Given the description of an element on the screen output the (x, y) to click on. 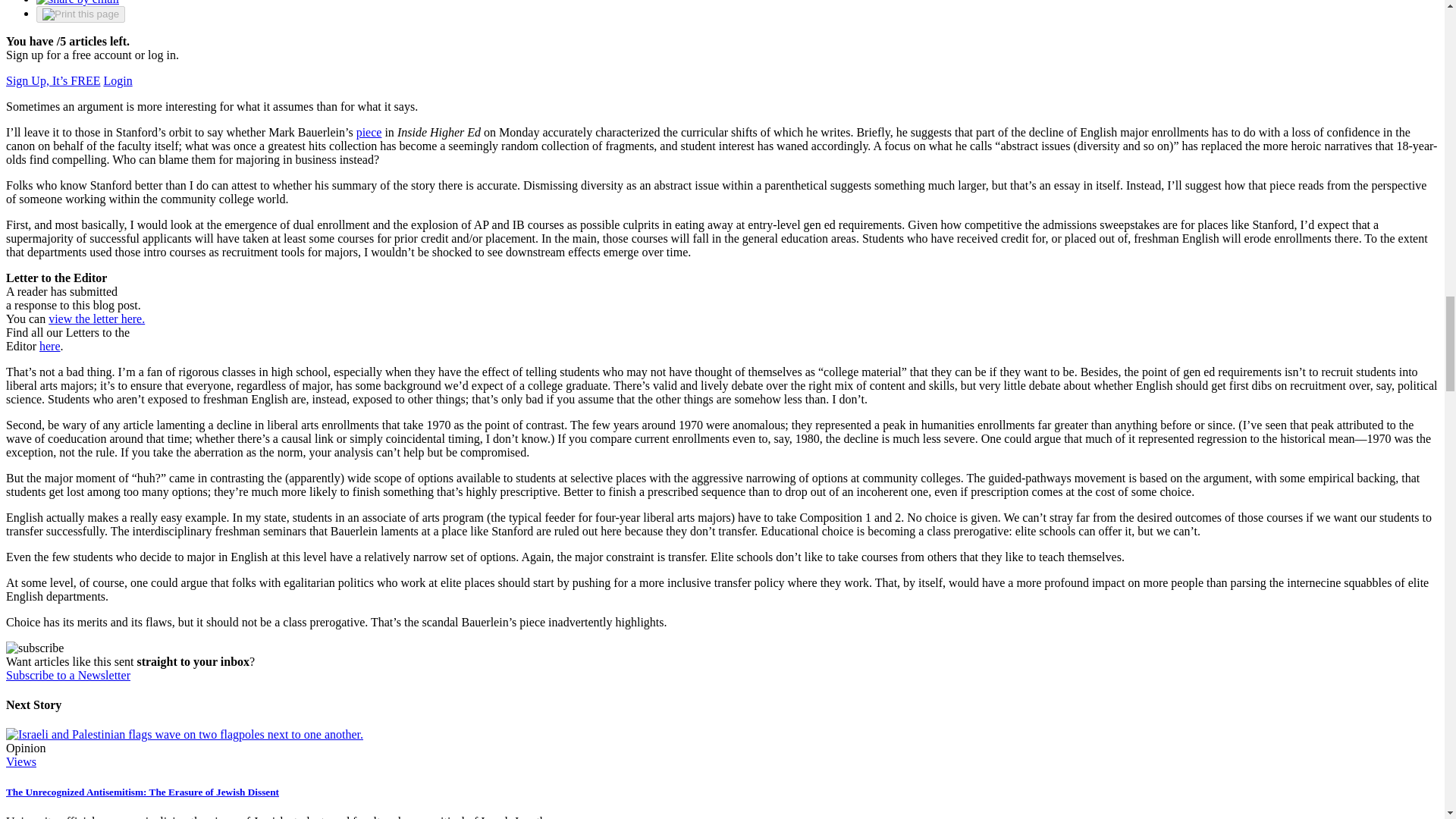
share by email (77, 2)
